Given the description of an element on the screen output the (x, y) to click on. 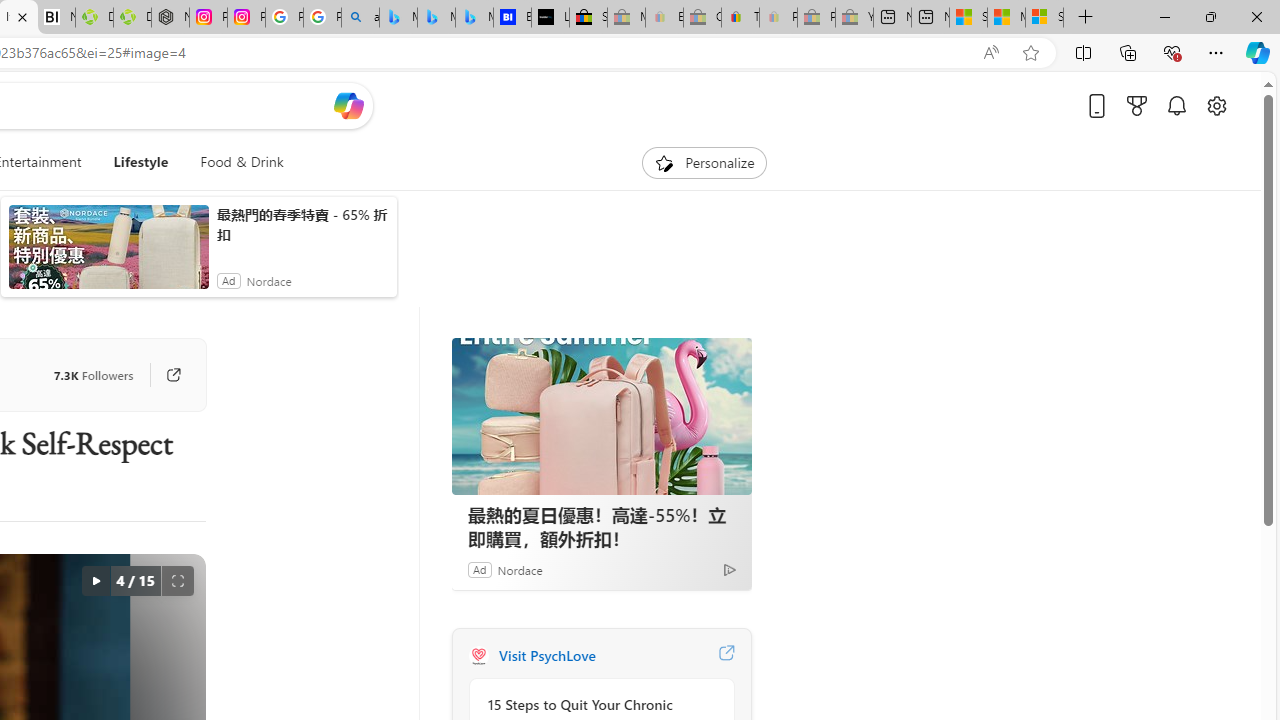
Yard, Garden & Outdoor Living - Sleeping (853, 17)
Full screen (177, 580)
Shanghai, China hourly forecast | Microsoft Weather (967, 17)
